Given the description of an element on the screen output the (x, y) to click on. 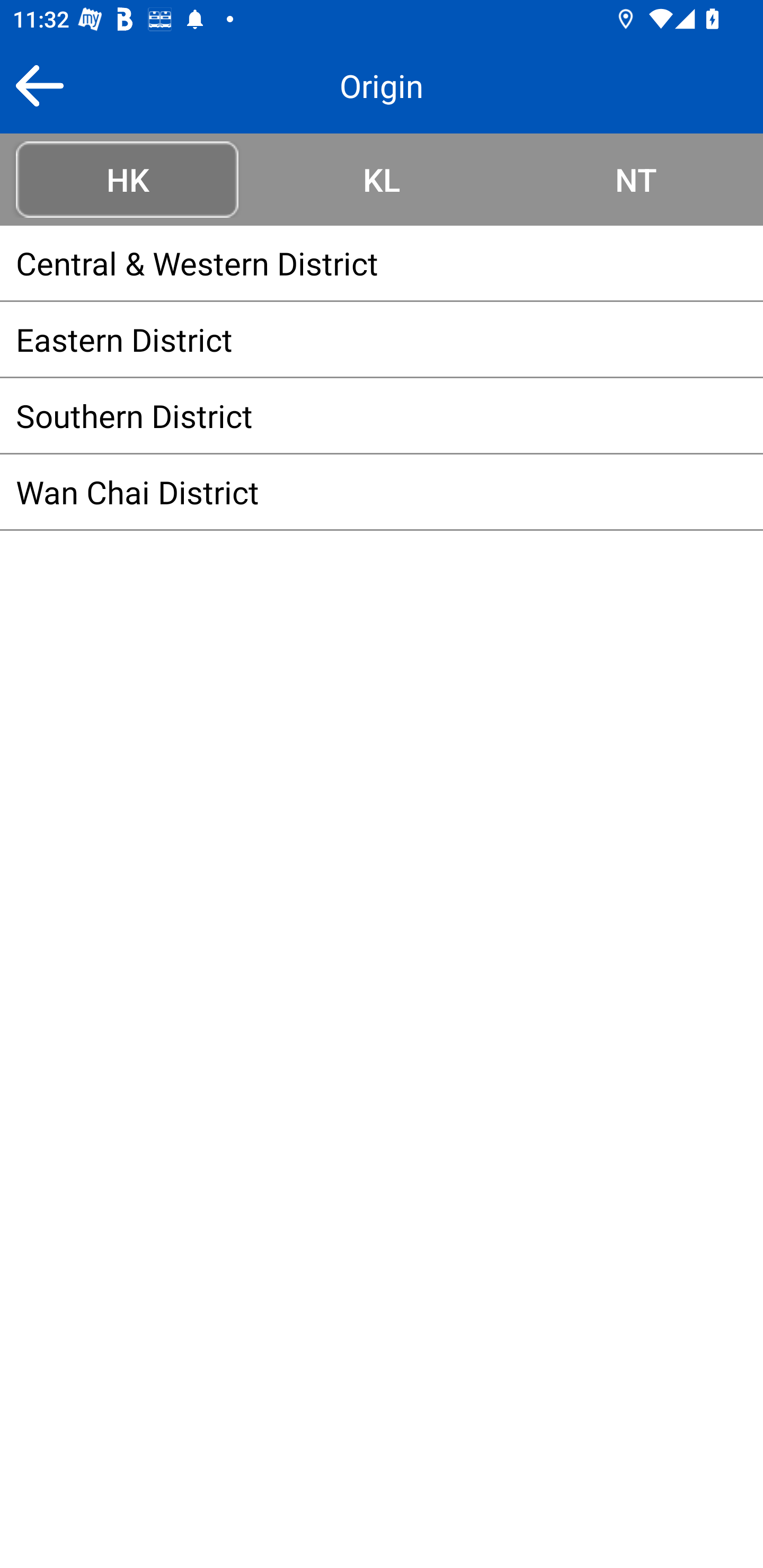
Back (39, 85)
HK (127, 179)
KL (381, 179)
NT (635, 179)
Central & Western District (381, 263)
Eastern District (381, 339)
Southern District (381, 415)
Wan Chai District (381, 491)
